Given the description of an element on the screen output the (x, y) to click on. 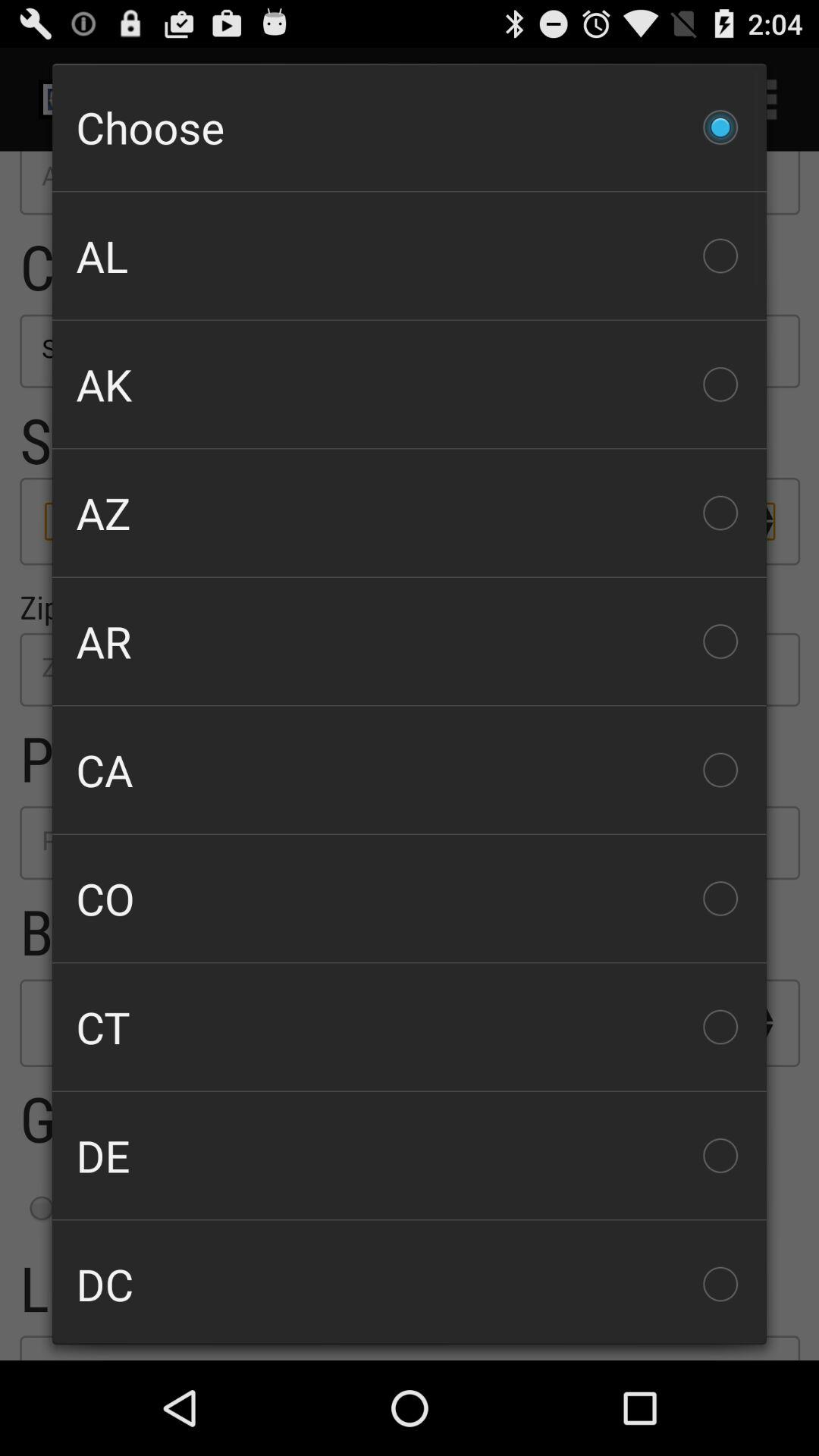
scroll to co (409, 898)
